Given the description of an element on the screen output the (x, y) to click on. 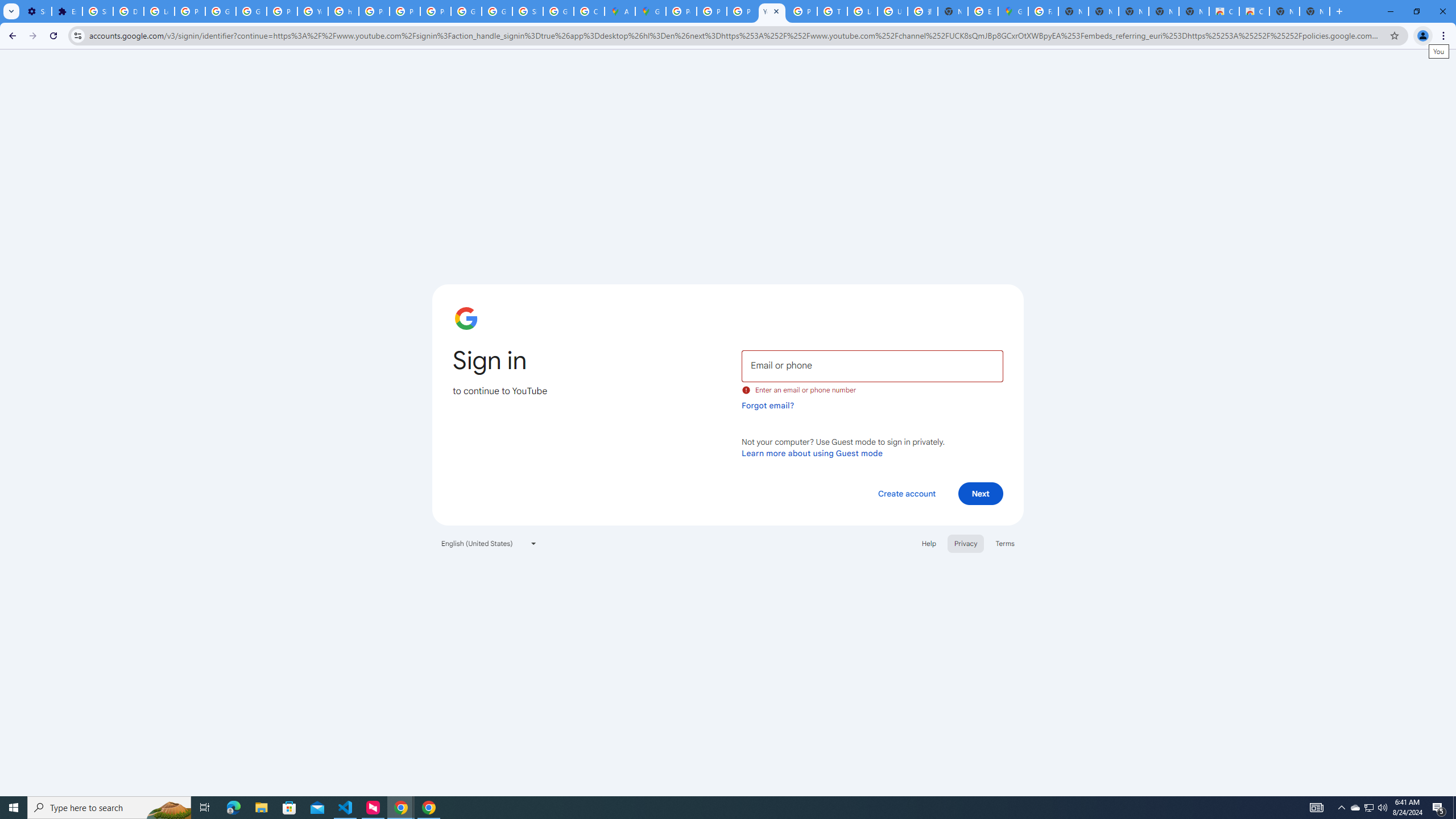
New Tab (952, 11)
Delete photos & videos - Computer - Google Photos Help (127, 11)
YouTube (771, 11)
Settings - On startup (36, 11)
Privacy Help Center - Policies Help (373, 11)
Extensions (66, 11)
Explore new street-level details - Google Maps Help (982, 11)
Sign in - Google Accounts (97, 11)
